Given the description of an element on the screen output the (x, y) to click on. 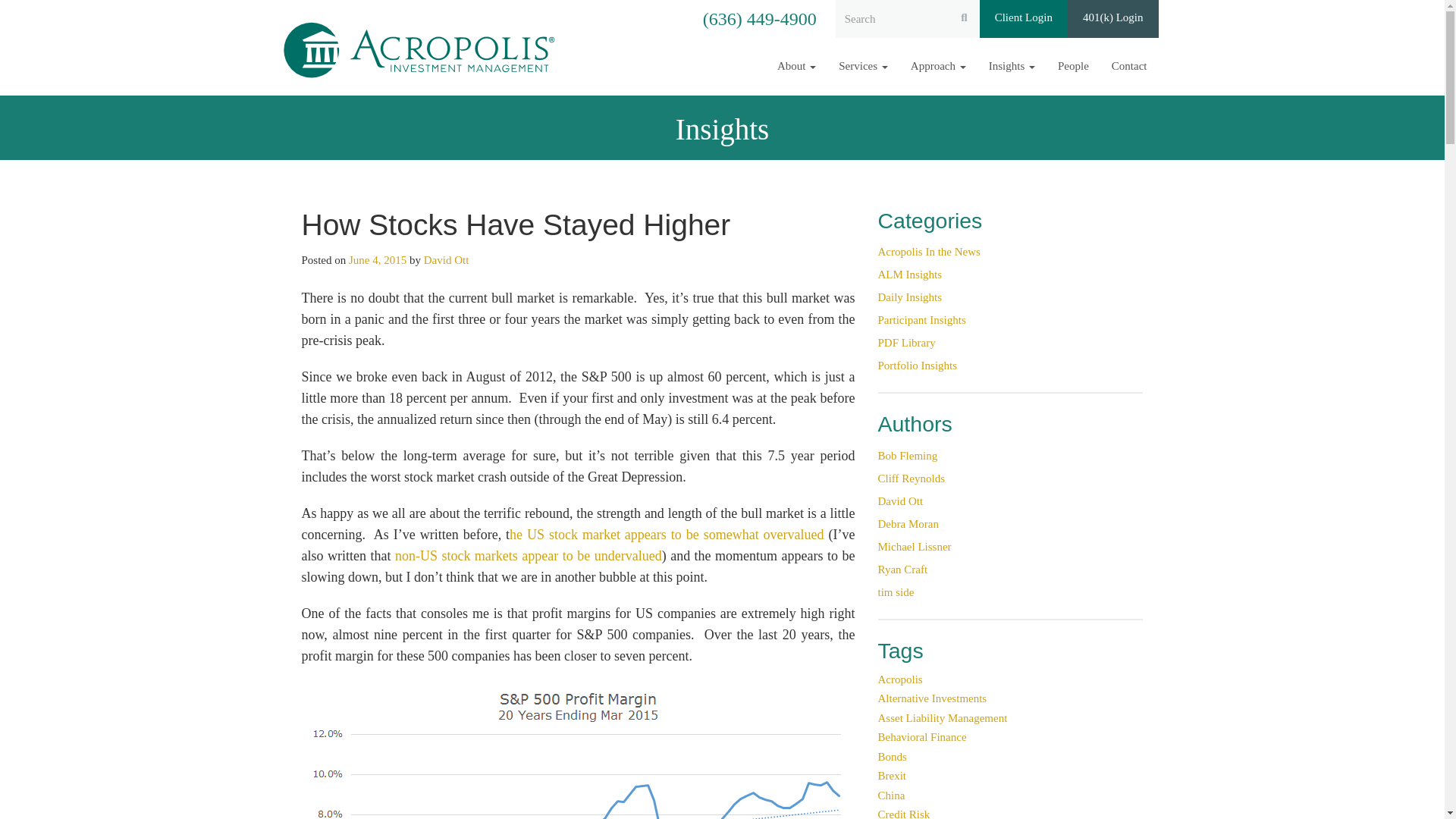
About (796, 66)
Services (863, 66)
People (1073, 66)
Services (863, 66)
Approach (937, 66)
Client Login (1023, 18)
Search (21, 12)
Insights (1011, 66)
About (796, 66)
Contact (1129, 66)
